Given the description of an element on the screen output the (x, y) to click on. 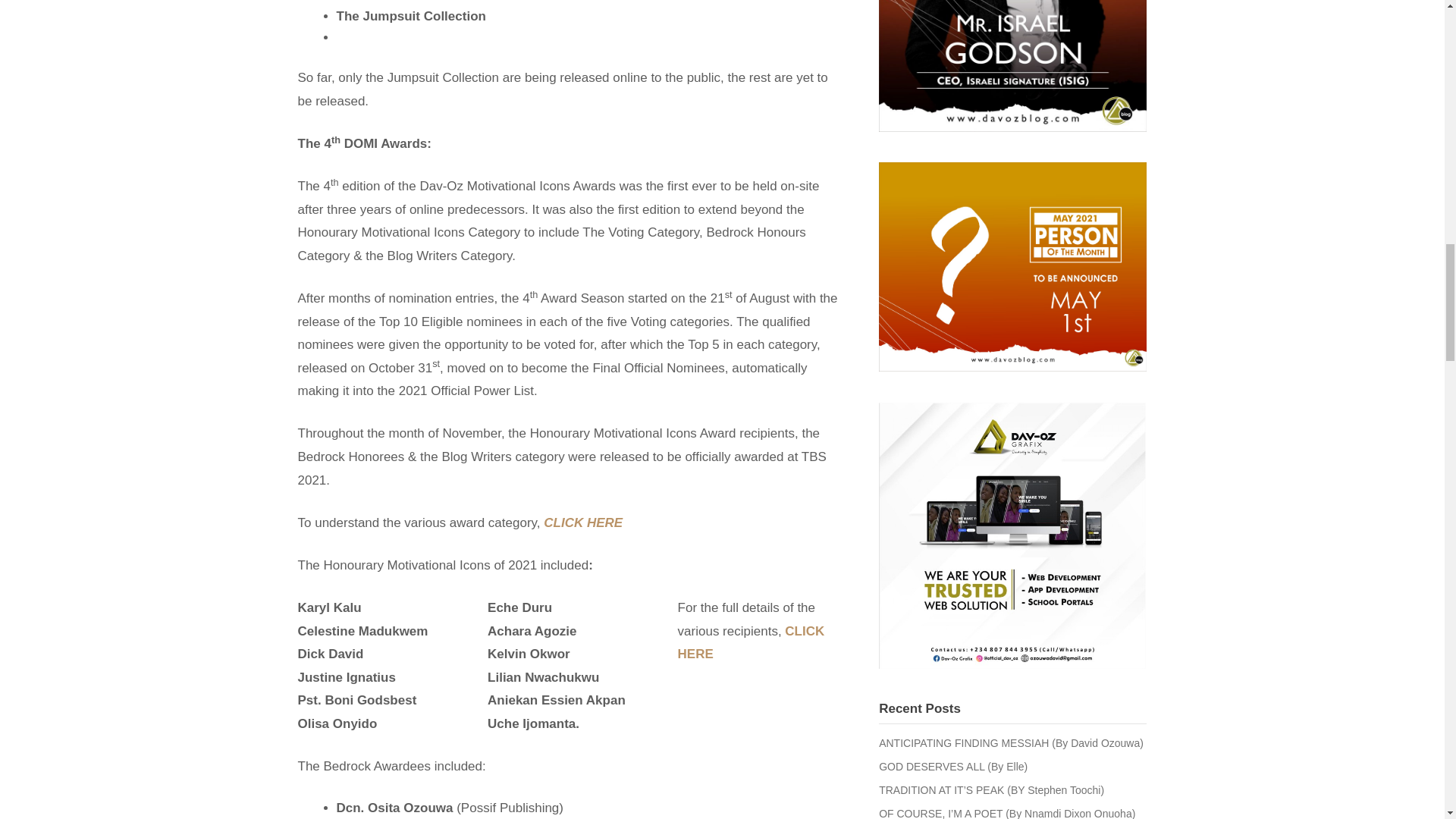
PERSON OF THE MONTH (1013, 65)
